Given the description of an element on the screen output the (x, y) to click on. 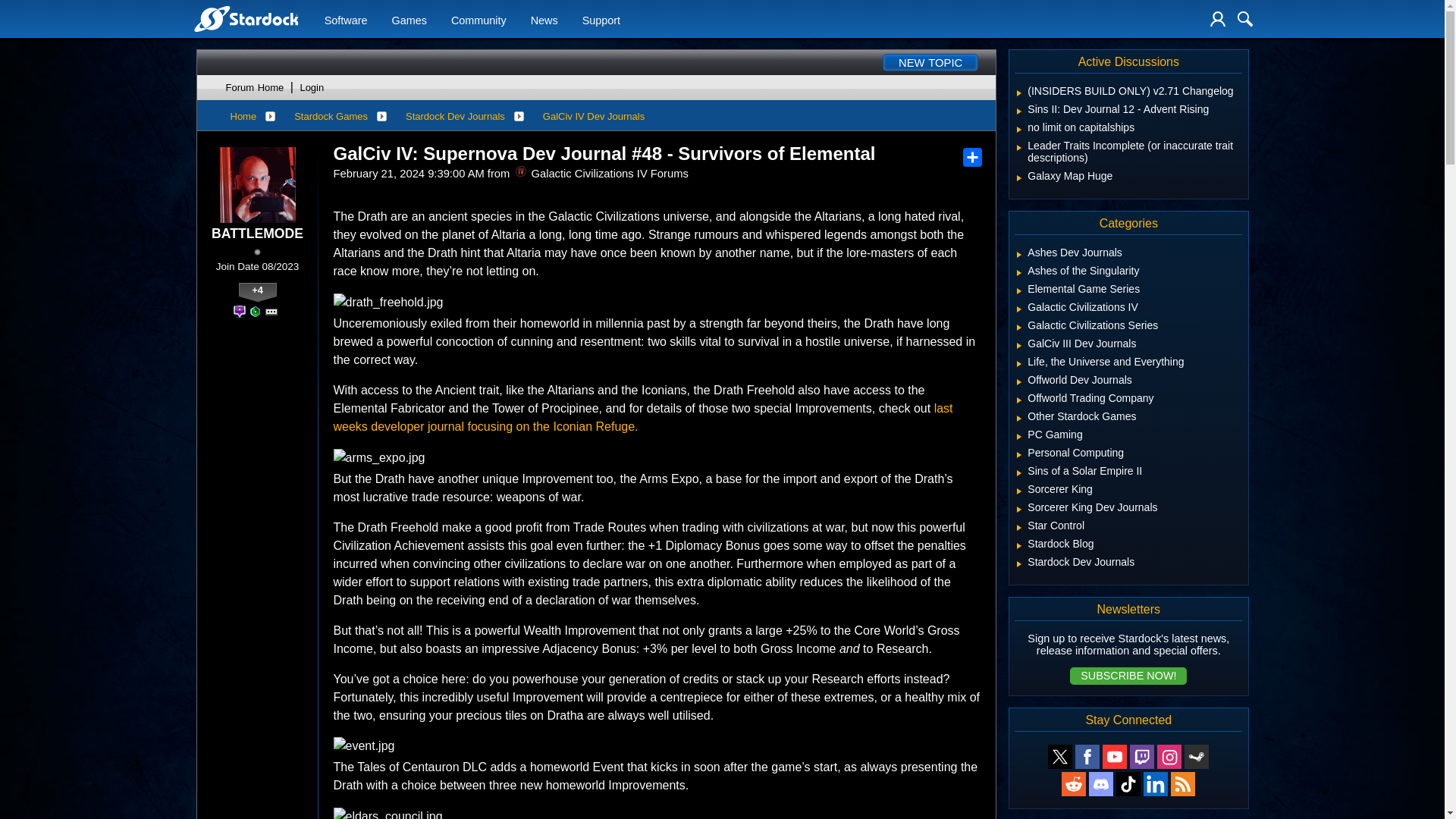
View all awards (271, 310)
Search Stardock (1244, 17)
Novice Poster - Created 5 Posts (255, 311)
Galactic Civilizations IV Forums (521, 171)
Rank: 1 (256, 251)
Login (1217, 17)
Stardock Logo (244, 18)
View BATTLEMODE's Karma (257, 292)
Received 500 clicks from shared links to a single post (239, 311)
Click user name to view more options. (256, 233)
